Given the description of an element on the screen output the (x, y) to click on. 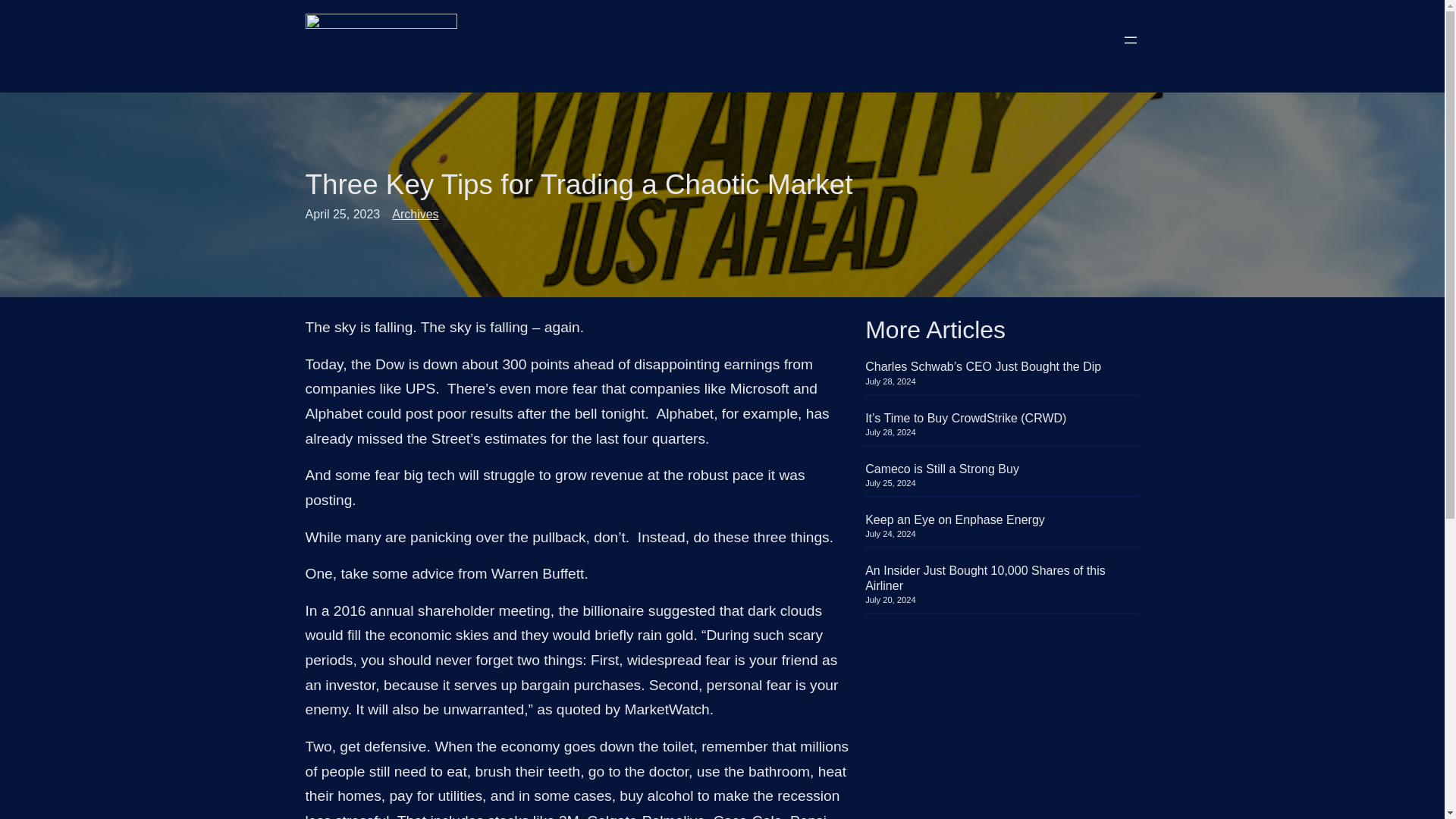
Cameco is Still a Strong Buy (941, 468)
An Insider Just Bought 10,000 Shares of this Airliner (1001, 577)
Archives (414, 214)
Keep an Eye on Enphase Energy (954, 519)
